Given the description of an element on the screen output the (x, y) to click on. 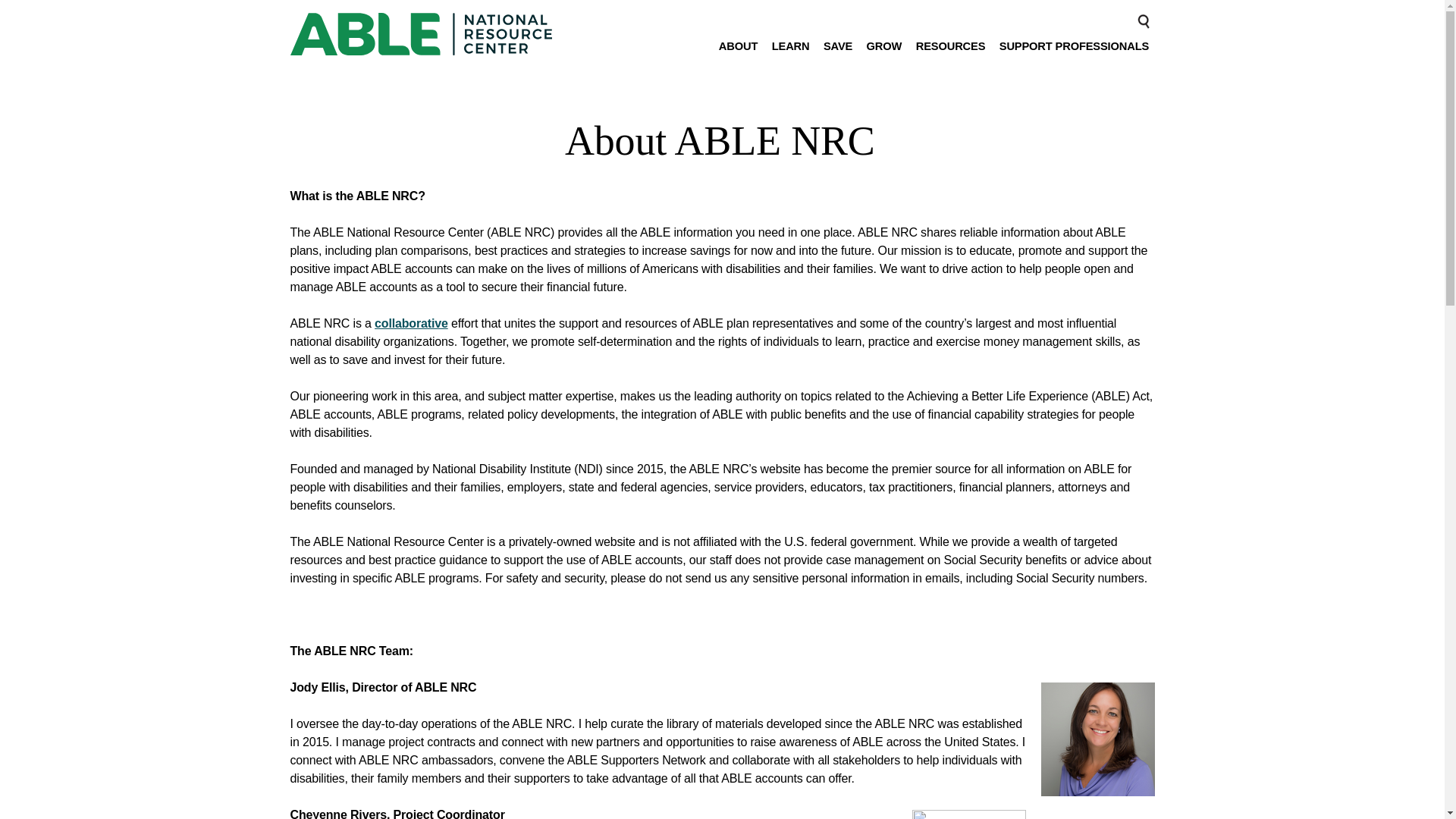
ABLE National Resource Center (420, 34)
LEARN (789, 53)
GROW (883, 53)
SAVE (838, 53)
ABOUT (737, 53)
RESOURCES (950, 53)
